Given the description of an element on the screen output the (x, y) to click on. 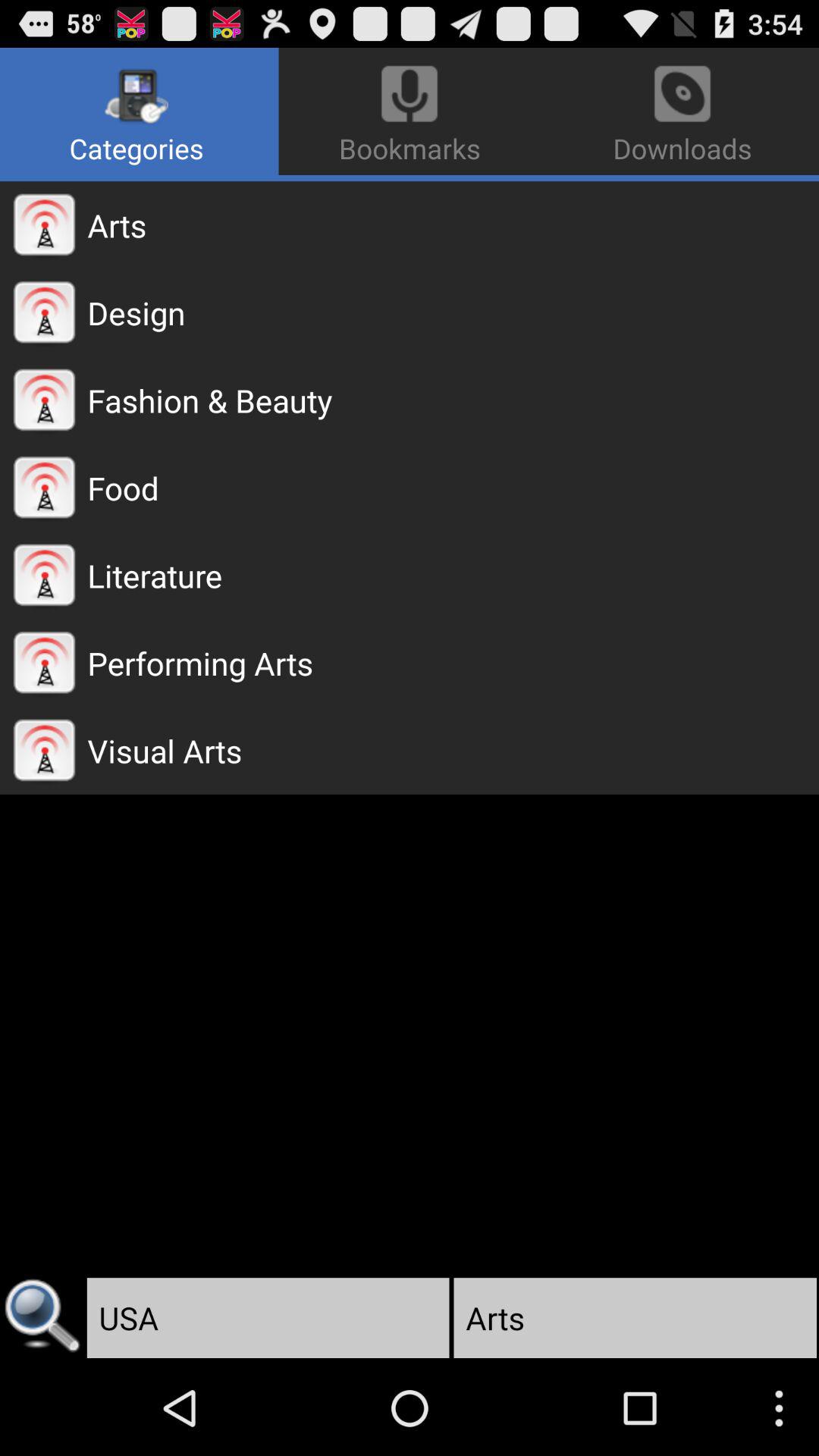
press downloads at the top right corner (679, 111)
